Given the description of an element on the screen output the (x, y) to click on. 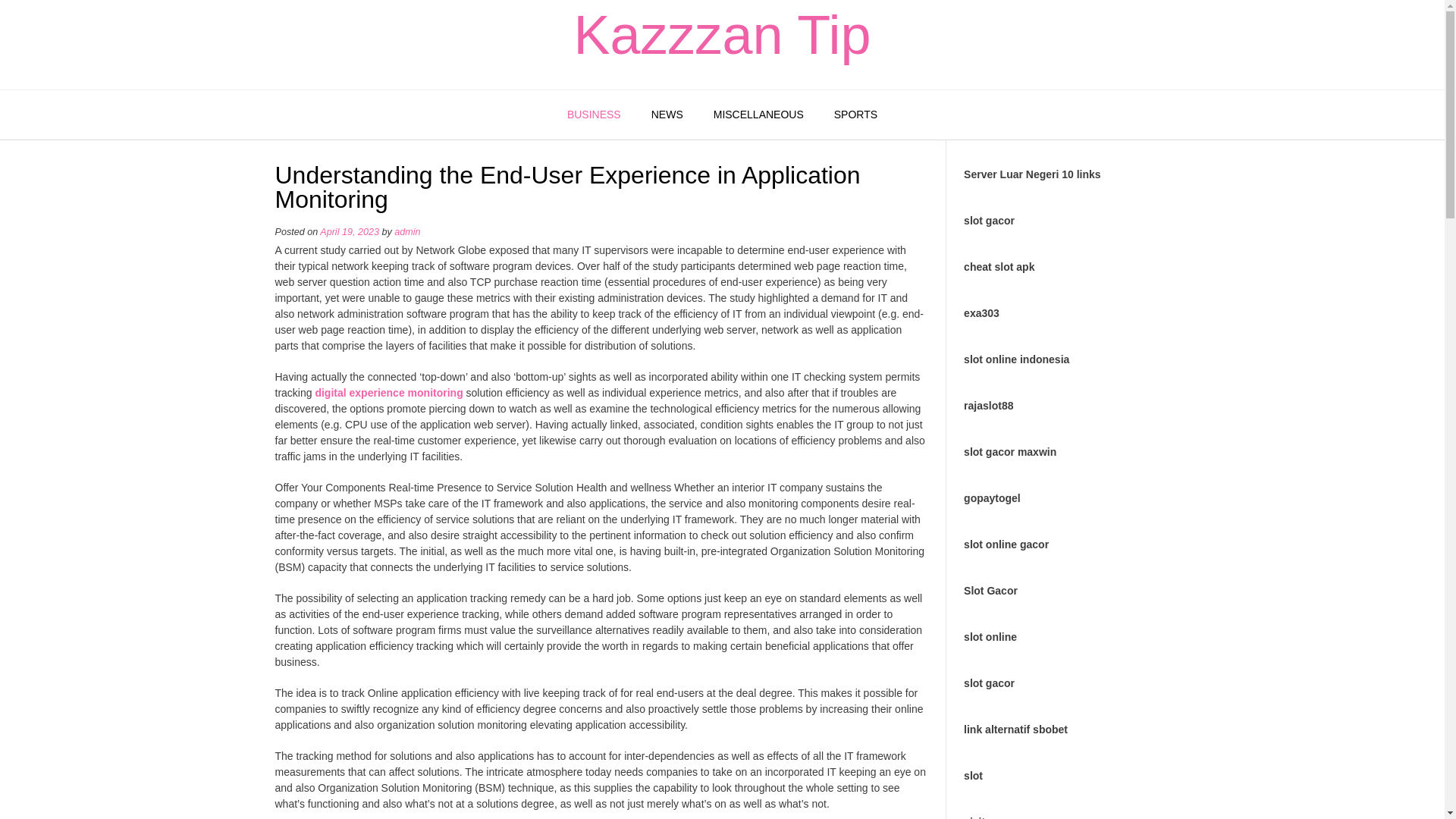
MISCELLANEOUS (758, 115)
cheat slot apk (998, 266)
Server Luar Negeri 10 links (1031, 174)
slot online (989, 636)
Kazzzan Tip (721, 34)
gopaytogel (991, 498)
Kazzzan Tip (721, 34)
slot gacor (988, 220)
slot online gacor (1005, 544)
Slot Gacor (990, 590)
